Given the description of an element on the screen output the (x, y) to click on. 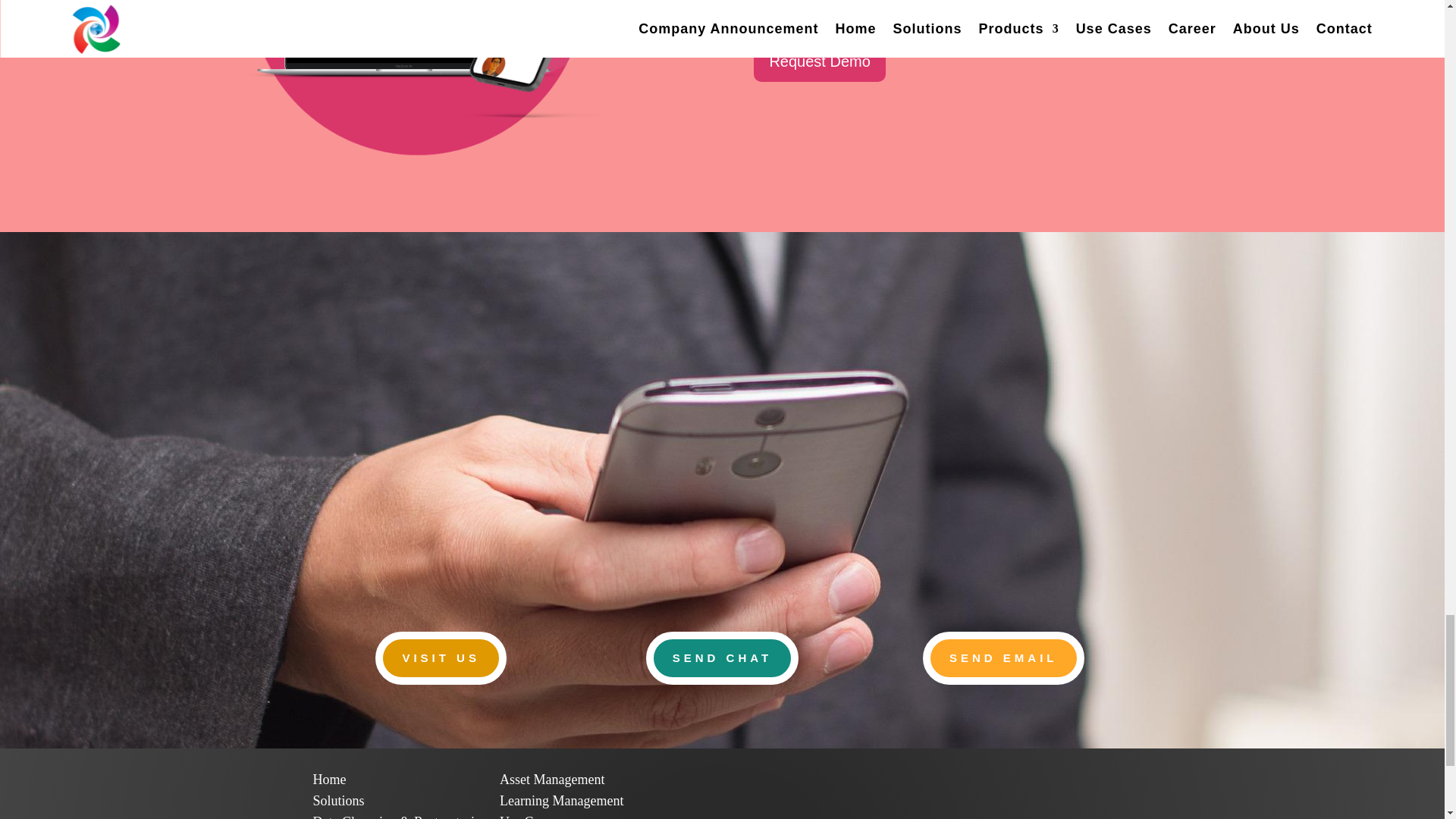
Request Demo (819, 60)
Home (329, 779)
SEND EMAIL (1003, 657)
VISIT US (440, 657)
SEND CHAT (721, 657)
PT GDIS Inovasi Indonesia (329, 779)
Solutions (338, 800)
